Given the description of an element on the screen output the (x, y) to click on. 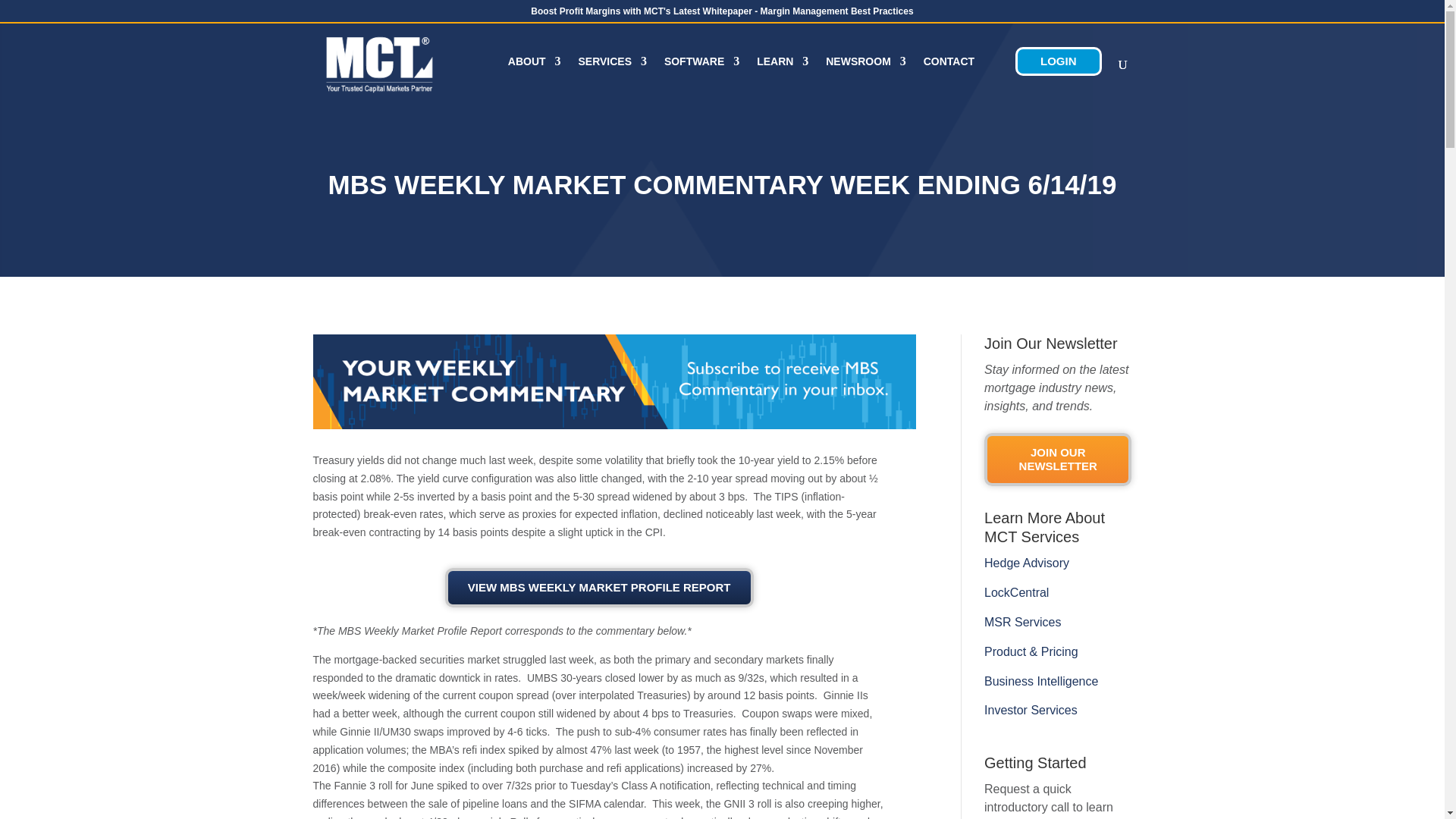
SERVICES (604, 76)
ABOUT (526, 76)
CONTACT (950, 76)
SOFTWARE (694, 76)
LOGIN (1058, 61)
LEARN (775, 76)
NEWSROOM (857, 76)
